Given the description of an element on the screen output the (x, y) to click on. 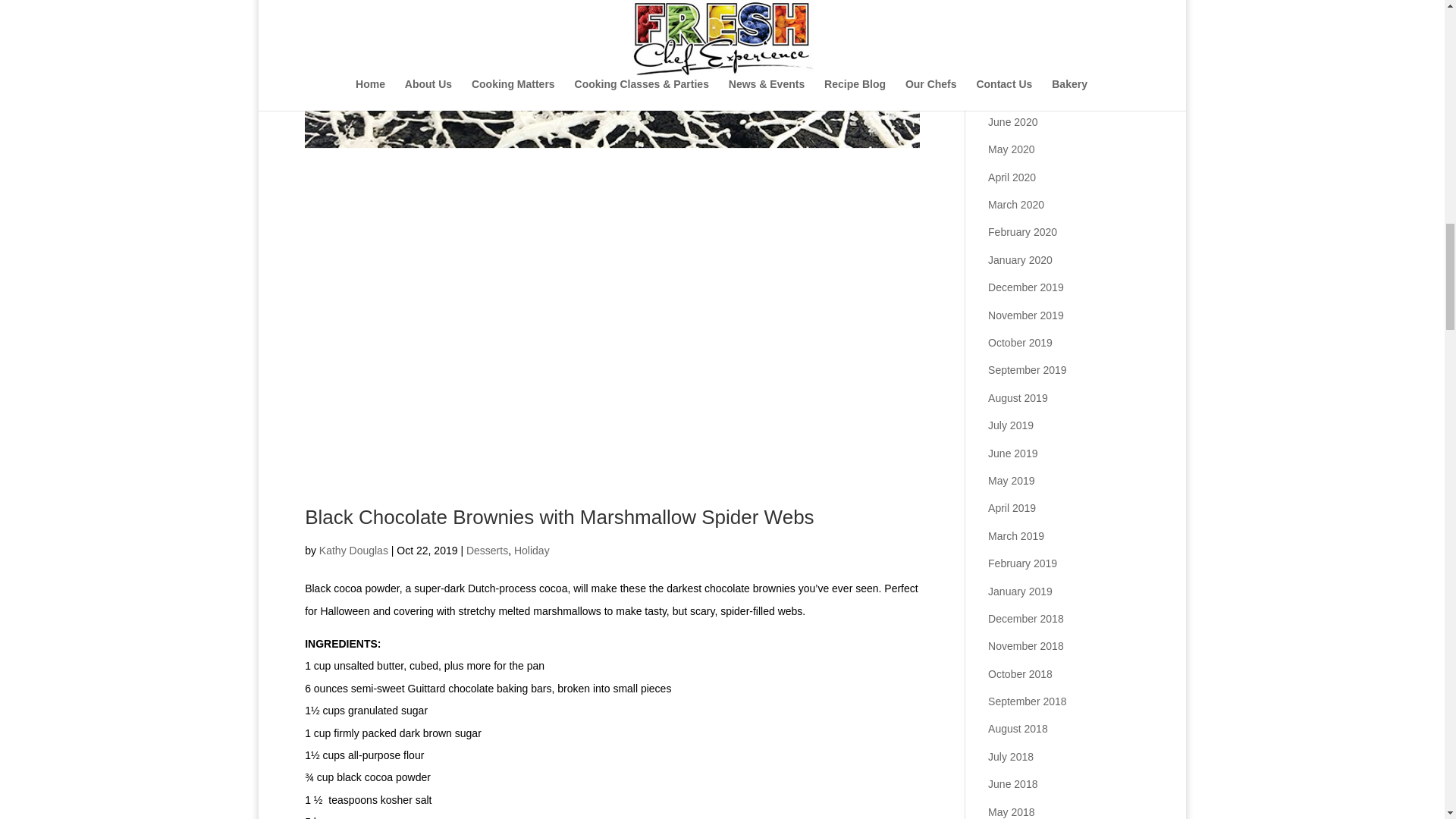
Holiday (531, 550)
Black Chocolate Brownies with Marshmallow Spider Webs (558, 517)
Desserts (486, 550)
Kathy Douglas (353, 550)
Posts by Kathy Douglas (353, 550)
